Given the description of an element on the screen output the (x, y) to click on. 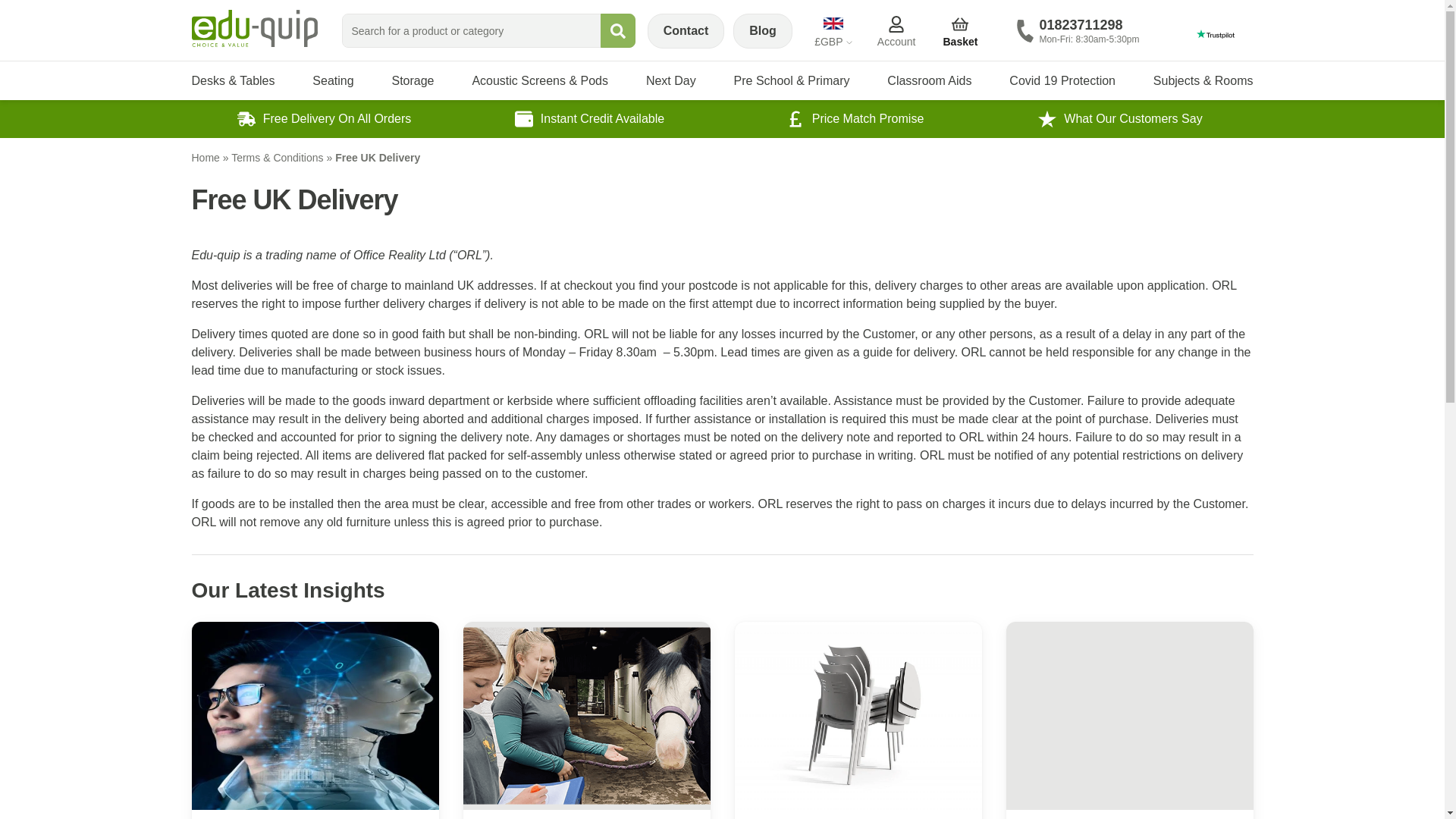
Homepage (253, 27)
Search (616, 30)
Blog (762, 30)
Customer reviews powered by Trustpilot (1214, 33)
Contact (1077, 39)
